Given the description of an element on the screen output the (x, y) to click on. 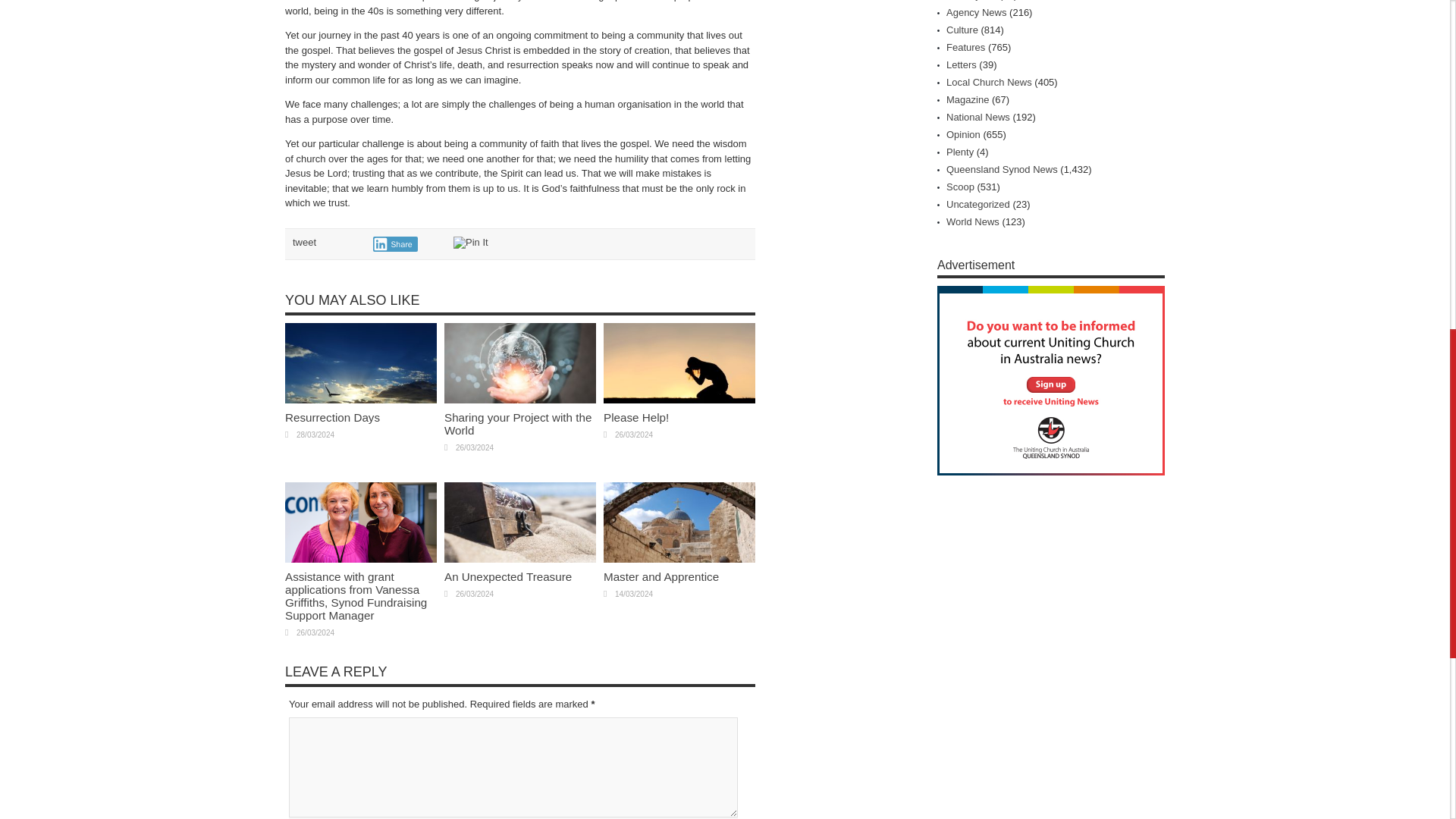
Pin It (469, 242)
tweet (303, 242)
Sharing your Project with the World (517, 423)
Permalink to An Unexpected Treasure (508, 576)
Permalink to Resurrection Days (360, 399)
Master and Apprentice (661, 576)
Resurrection Days (332, 417)
Permalink to Sharing your Project with the World (517, 423)
Permalink to Master and Apprentice (661, 576)
Permalink to Please Help! (636, 417)
Permalink to Please Help! (679, 399)
Share (394, 243)
Permalink to Master and Apprentice (679, 559)
